Given the description of an element on the screen output the (x, y) to click on. 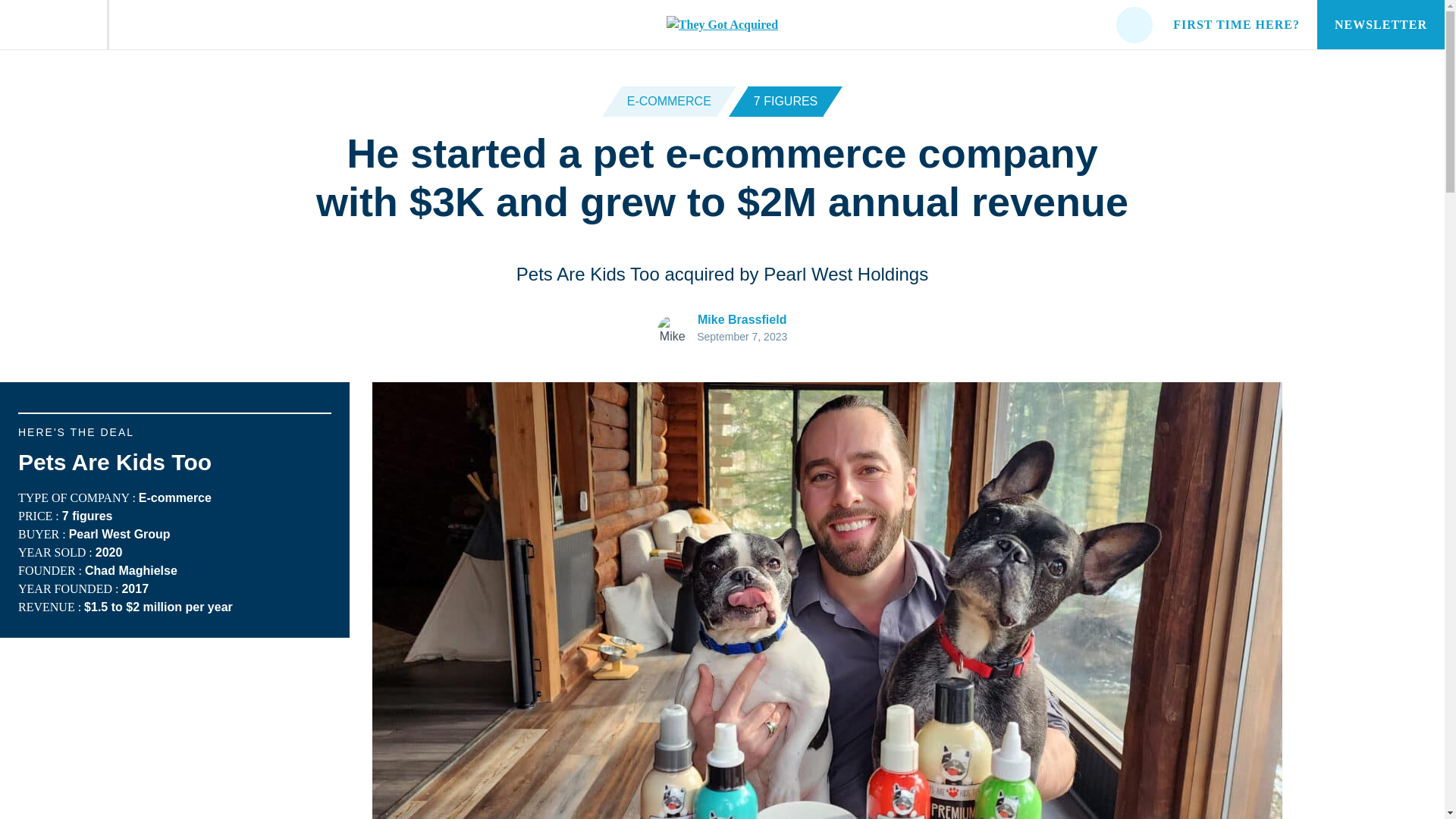
Mike Brassfield (741, 318)
FIRST TIME HERE? (1236, 24)
Posts by Mike Brassfield (741, 318)
7 FIGURES (786, 101)
